Given the description of an element on the screen output the (x, y) to click on. 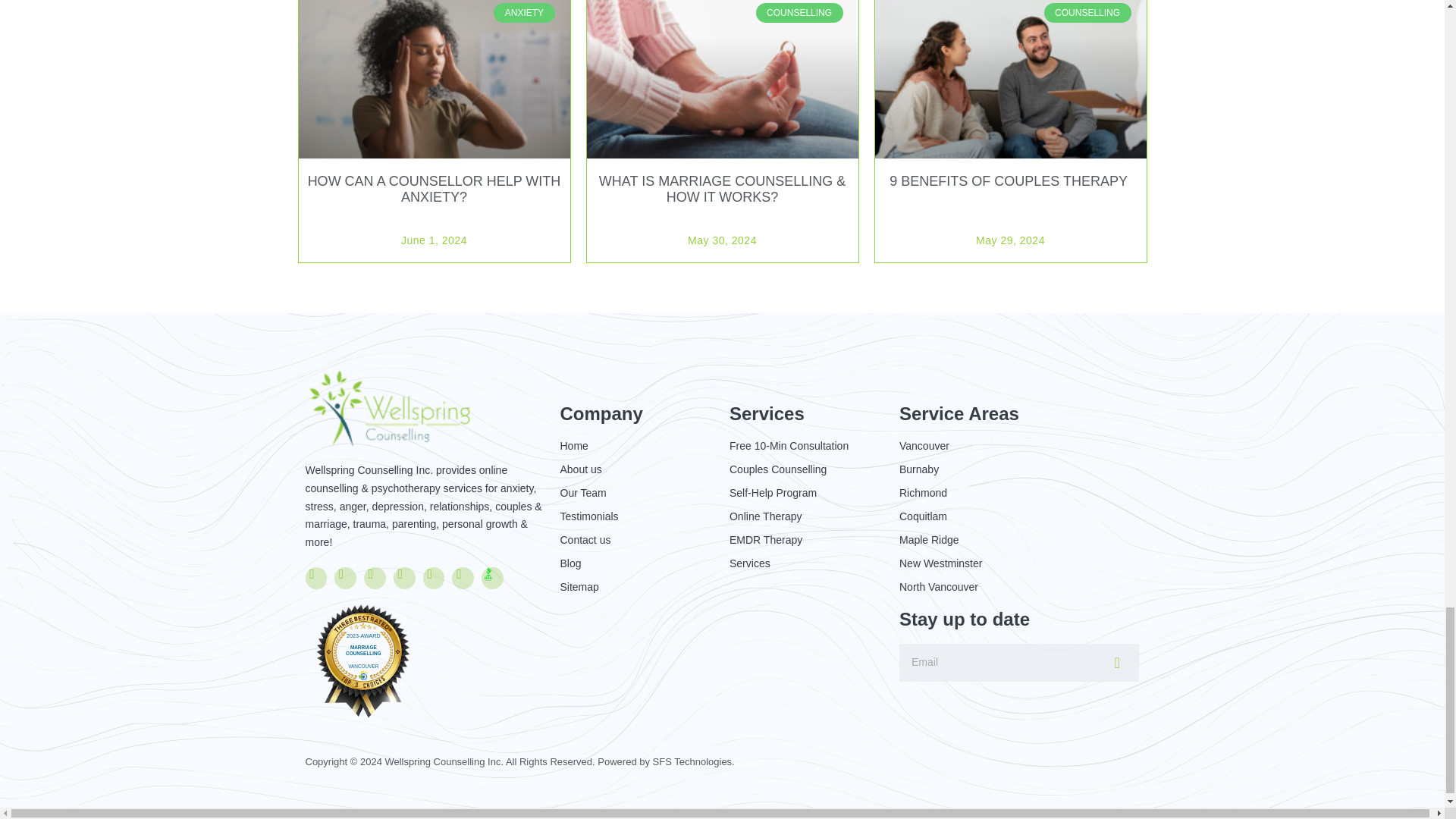
Start With Trust (488, 573)
